Given the description of an element on the screen output the (x, y) to click on. 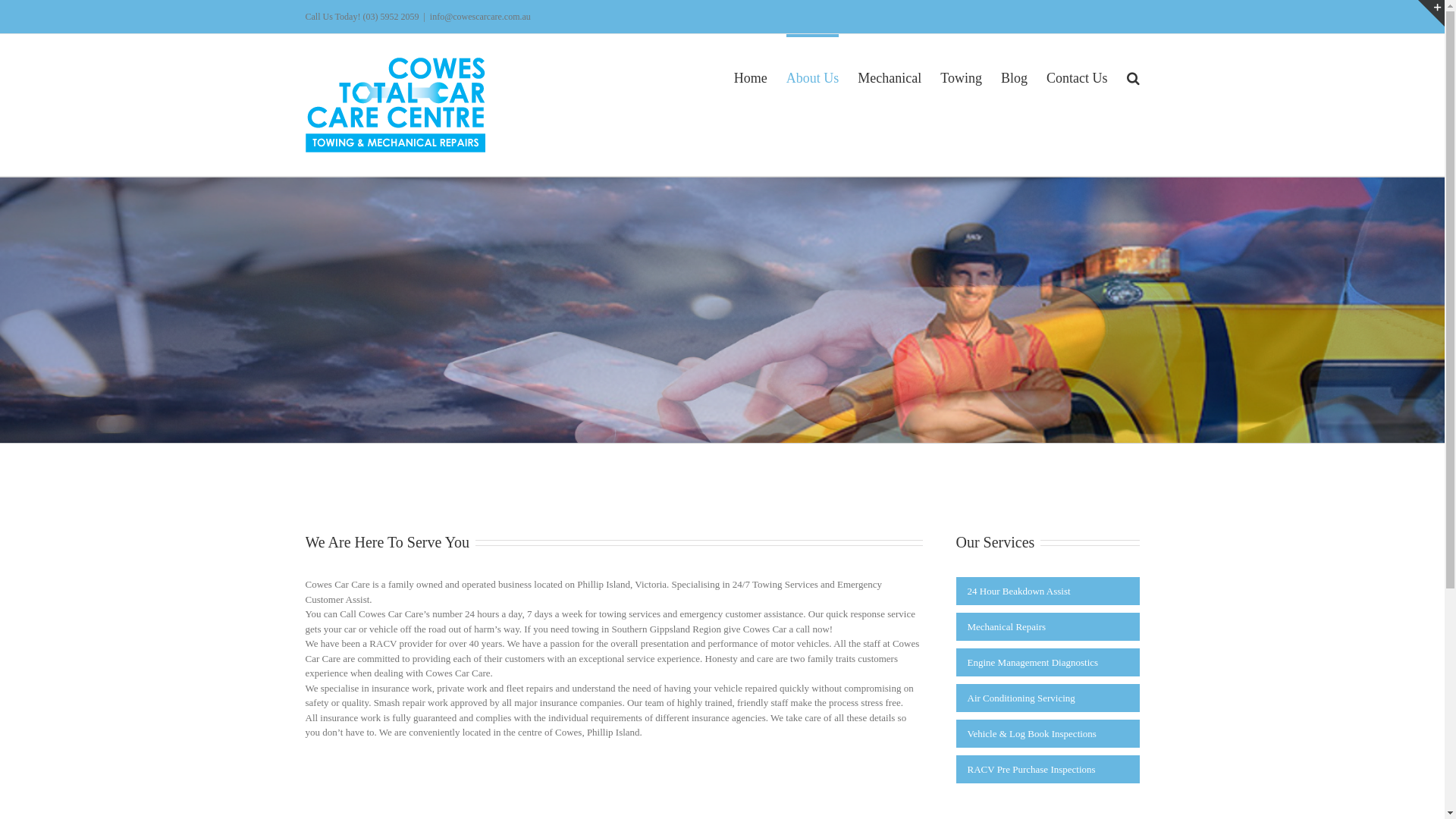
About Us Element type: text (812, 76)
Contact Us Element type: text (1076, 76)
info@cowescarcare.com.au Element type: text (479, 16)
Mechanical Element type: text (889, 76)
Blog Element type: text (1014, 76)
Home Element type: text (750, 76)
Towing Element type: text (961, 76)
